Given the description of an element on the screen output the (x, y) to click on. 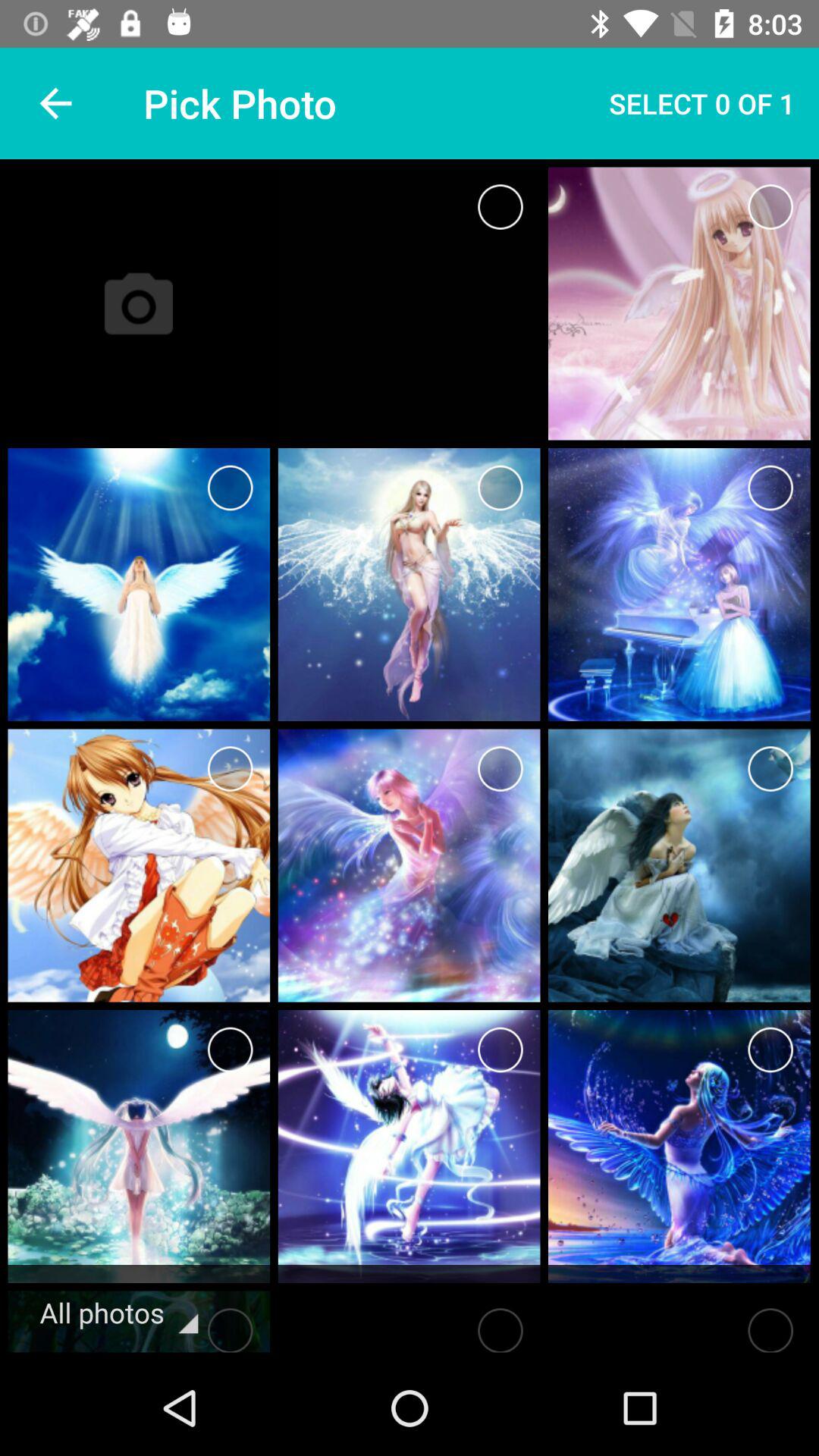
select photo (500, 487)
